Given the description of an element on the screen output the (x, y) to click on. 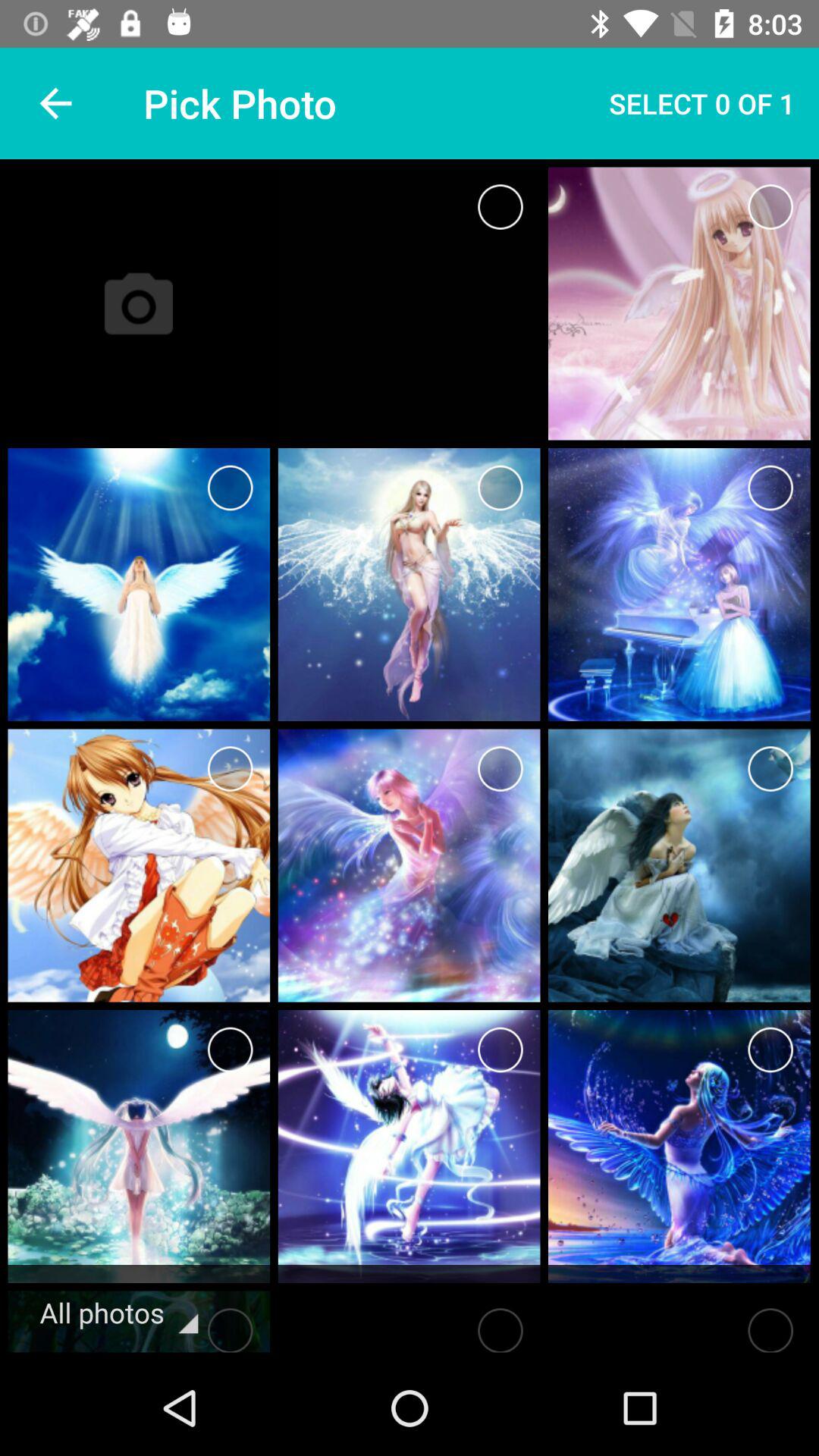
select photo (500, 487)
